Given the description of an element on the screen output the (x, y) to click on. 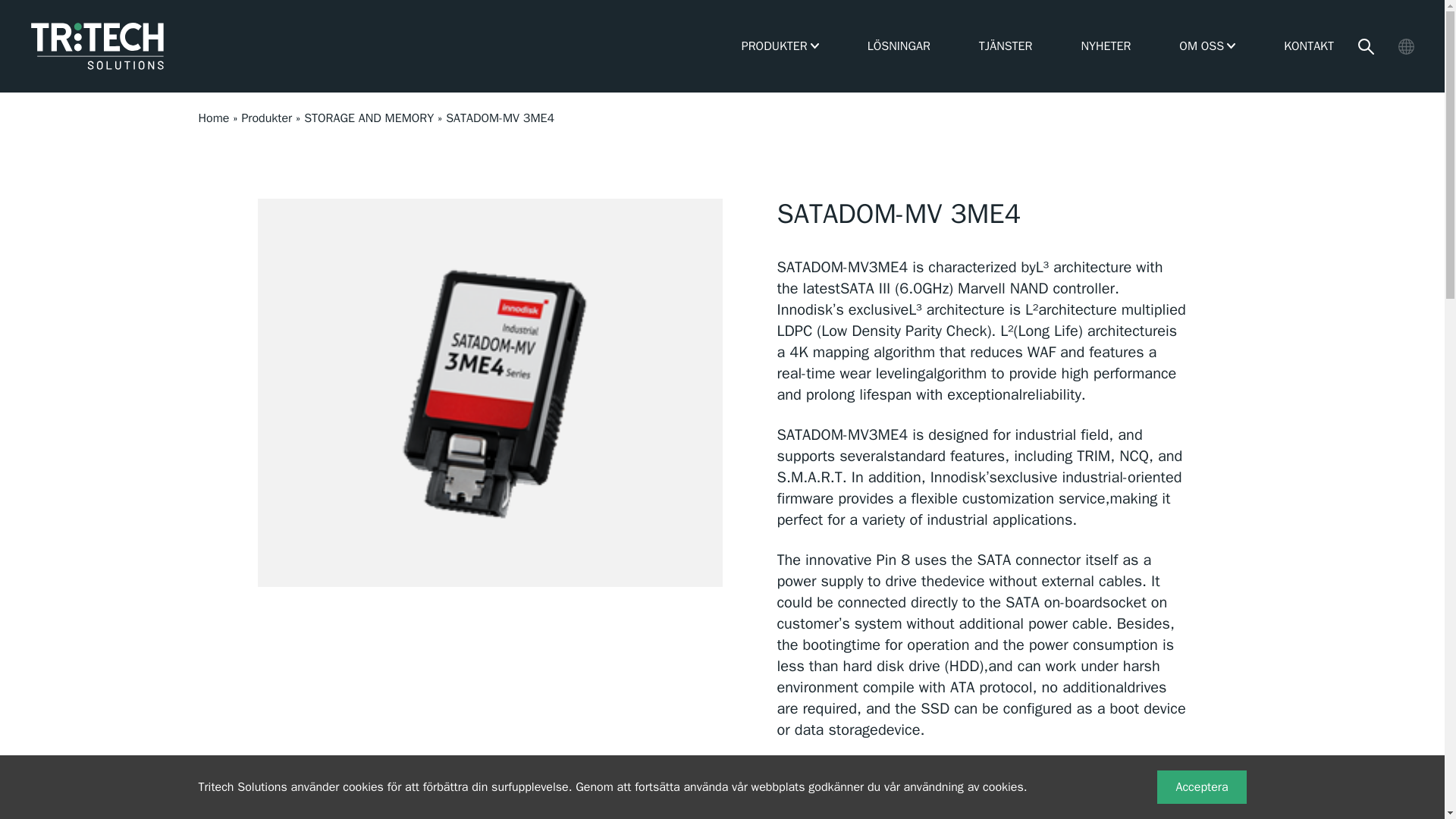
Produkter (266, 118)
STORAGE AND MEMORY (368, 118)
KONTAKT (1308, 45)
Home (214, 118)
PRODUKTER (774, 45)
NYHETER (1105, 45)
OM OSS (1201, 45)
Innodisk (890, 809)
